Given the description of an element on the screen output the (x, y) to click on. 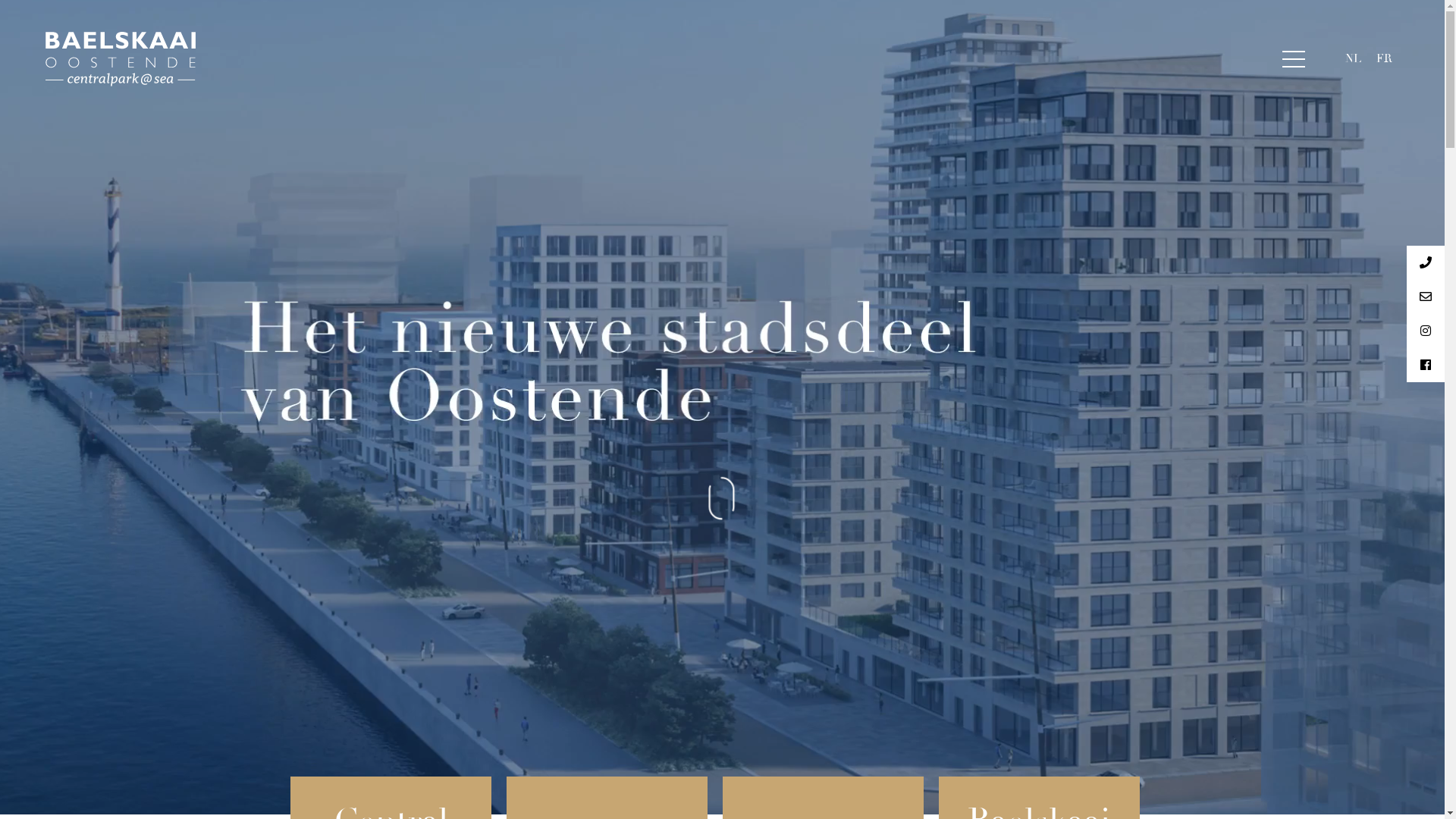
NL Element type: text (1352, 58)
FR Element type: text (1383, 58)
